Given the description of an element on the screen output the (x, y) to click on. 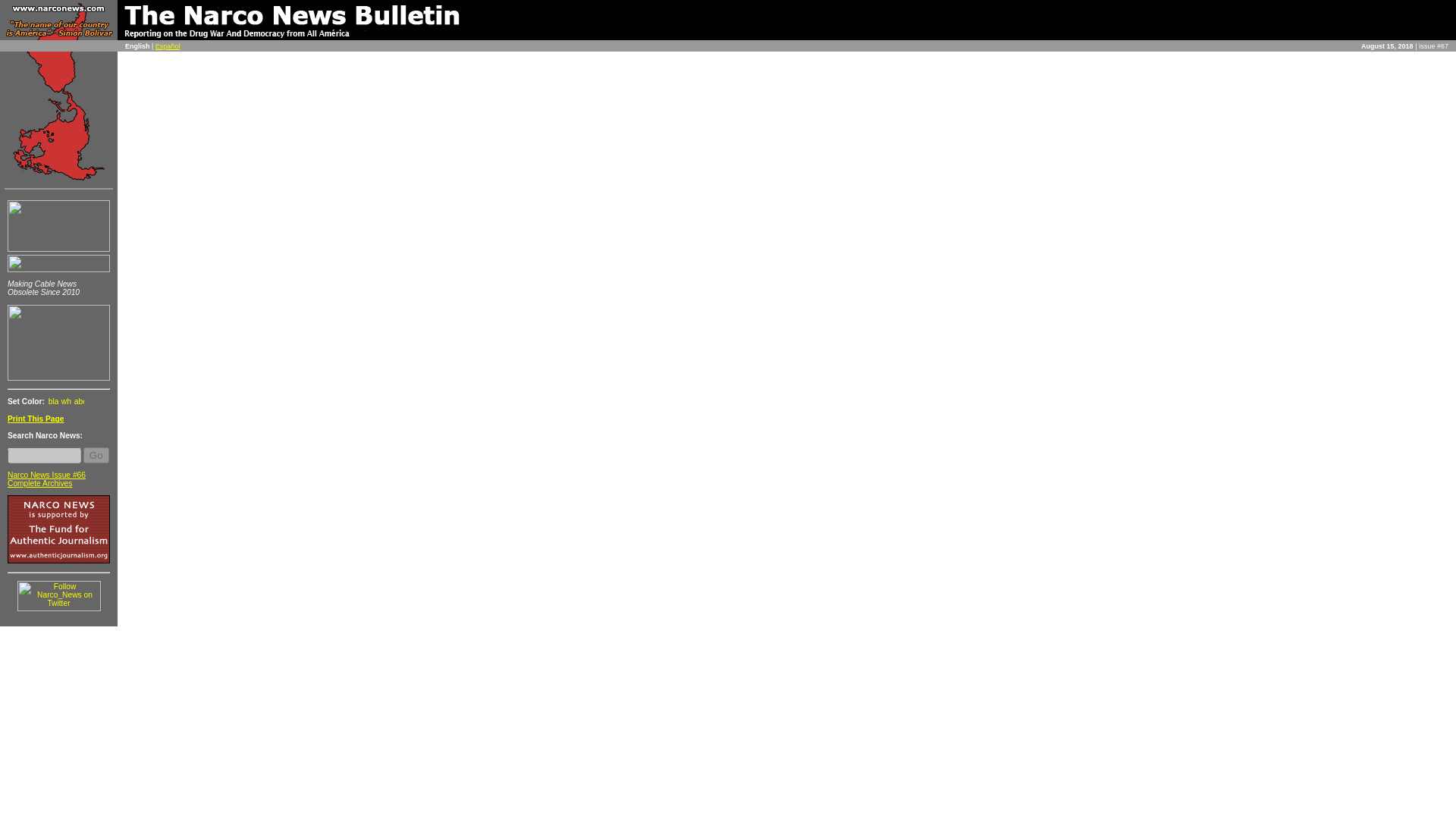
Complete Archives (39, 483)
Go (95, 455)
Go (95, 455)
Print This Page (35, 418)
